Given the description of an element on the screen output the (x, y) to click on. 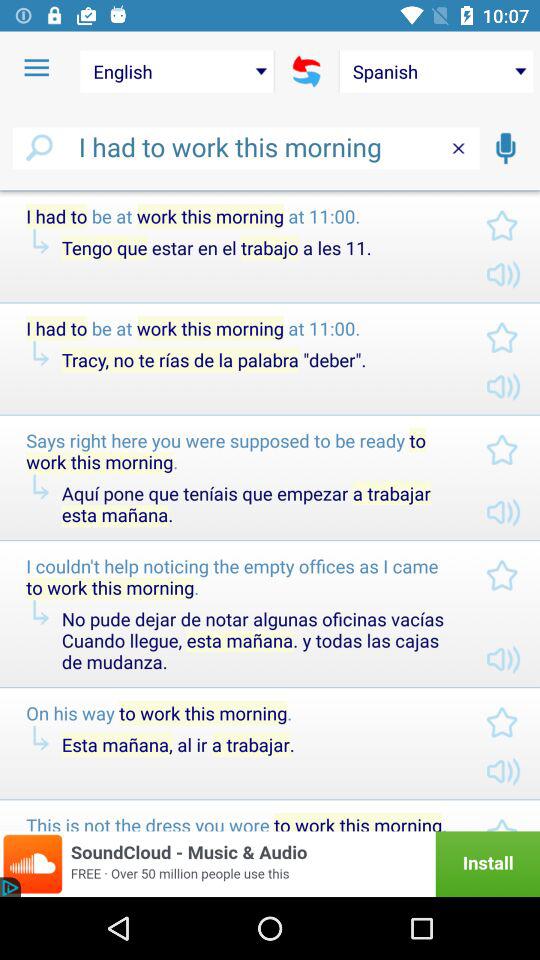
microphone (505, 148)
